Given the description of an element on the screen output the (x, y) to click on. 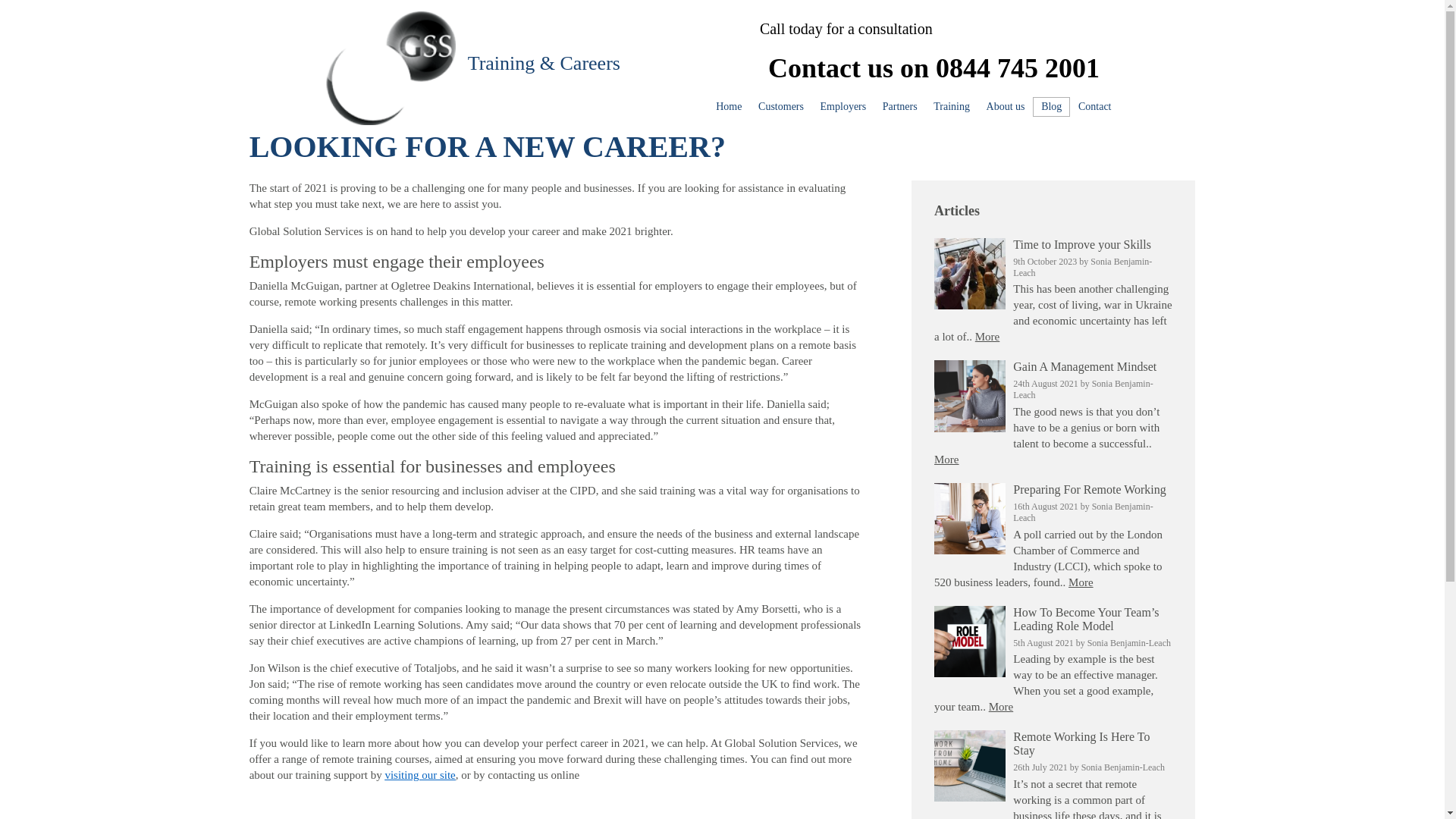
About us (1005, 107)
Home (728, 107)
visiting our site (419, 775)
Call today for a consultation (933, 29)
Customers (779, 107)
Employers (843, 107)
Training (950, 107)
Blog (1051, 107)
Partners (899, 107)
Contact (1094, 107)
Contact us on 0844 745 2001 (933, 68)
